Given the description of an element on the screen output the (x, y) to click on. 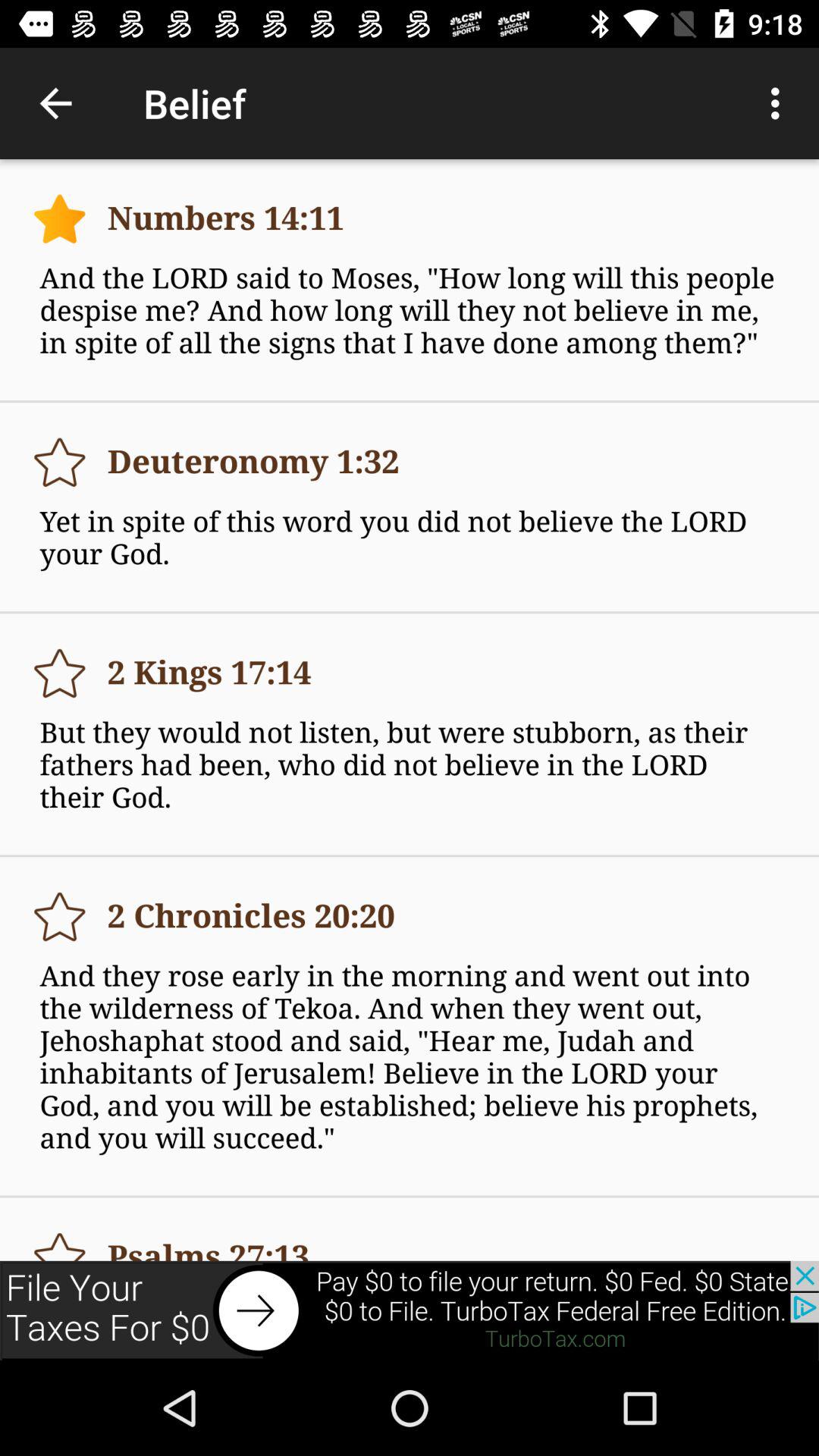
star sympol (59, 1238)
